Given the description of an element on the screen output the (x, y) to click on. 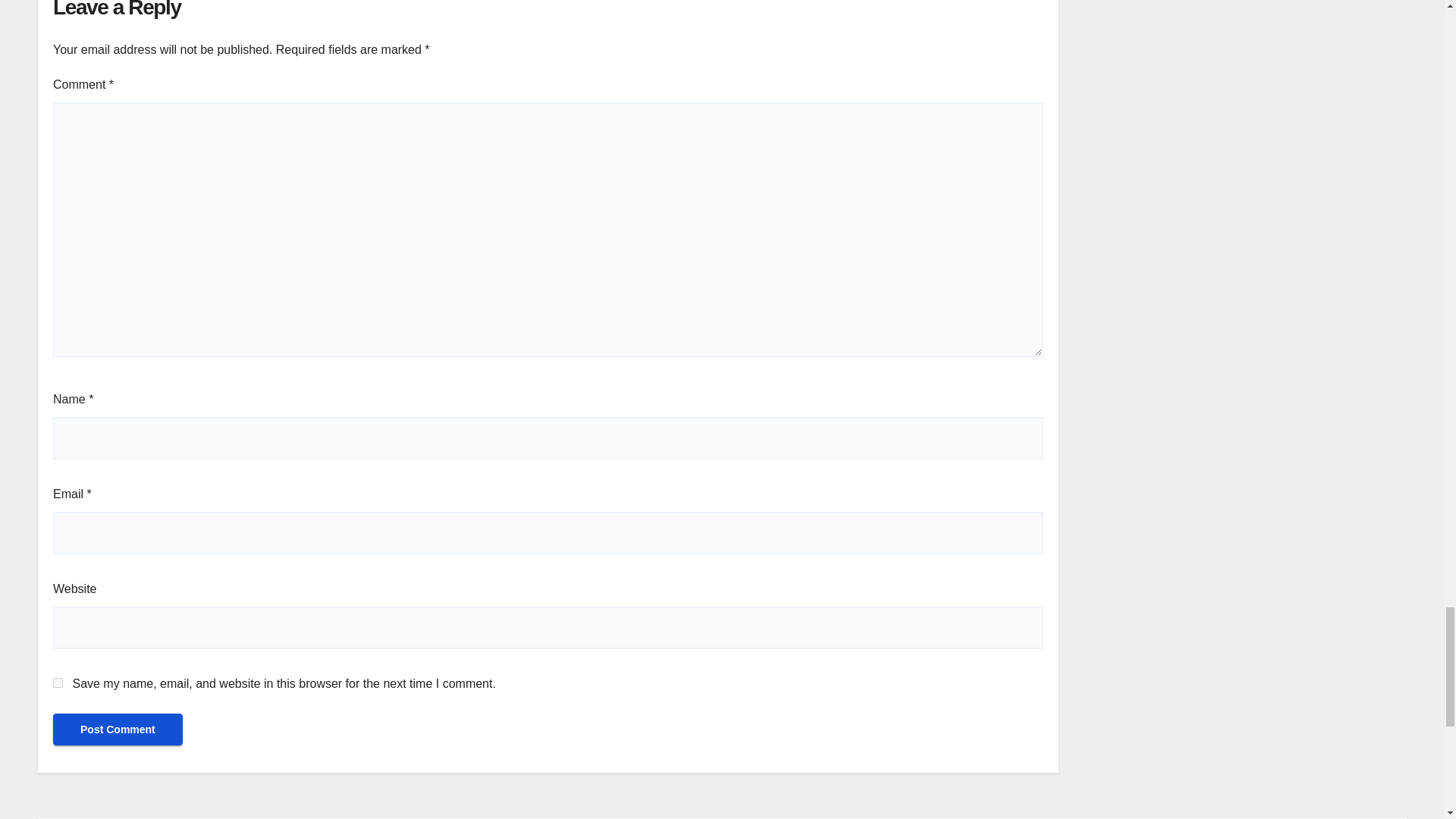
Post Comment (117, 729)
Post Comment (117, 729)
yes (57, 682)
